Given the description of an element on the screen output the (x, y) to click on. 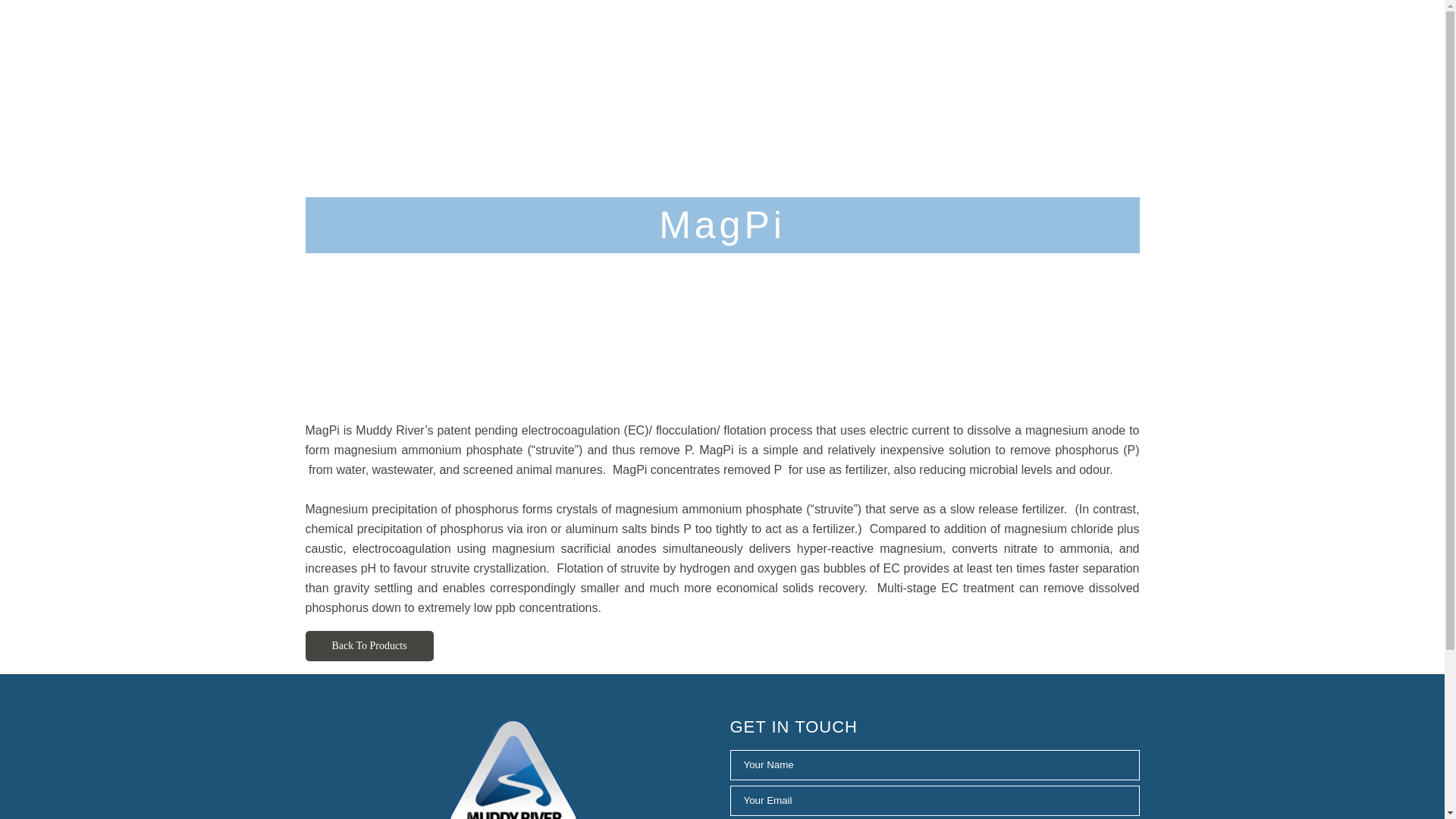
Our Products (950, 44)
In Praise Of Simplicity (815, 44)
Industries And Contaminants (631, 44)
Back To Products (368, 645)
